Given the description of an element on the screen output the (x, y) to click on. 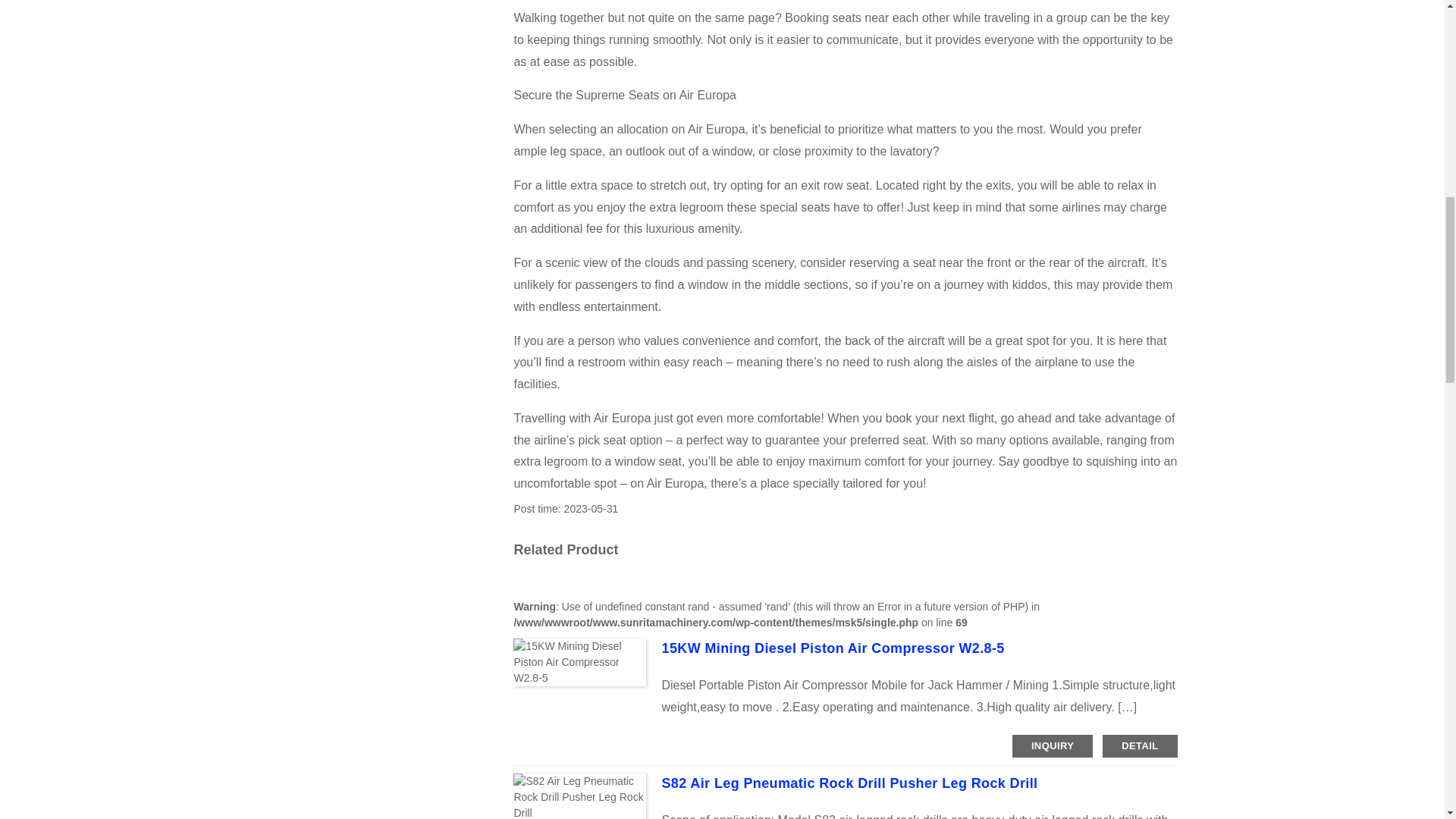
INQUIRY (1052, 745)
15KW Mining Diesel Piston Air Compressor W2.8-5 (832, 648)
15KW Mining Diesel Piston Air Compressor W2.8-5 (832, 648)
DETAIL (1139, 745)
S82 Air Leg Pneumatic Rock Drill Pusher Leg Rock Drill (848, 783)
